Given the description of an element on the screen output the (x, y) to click on. 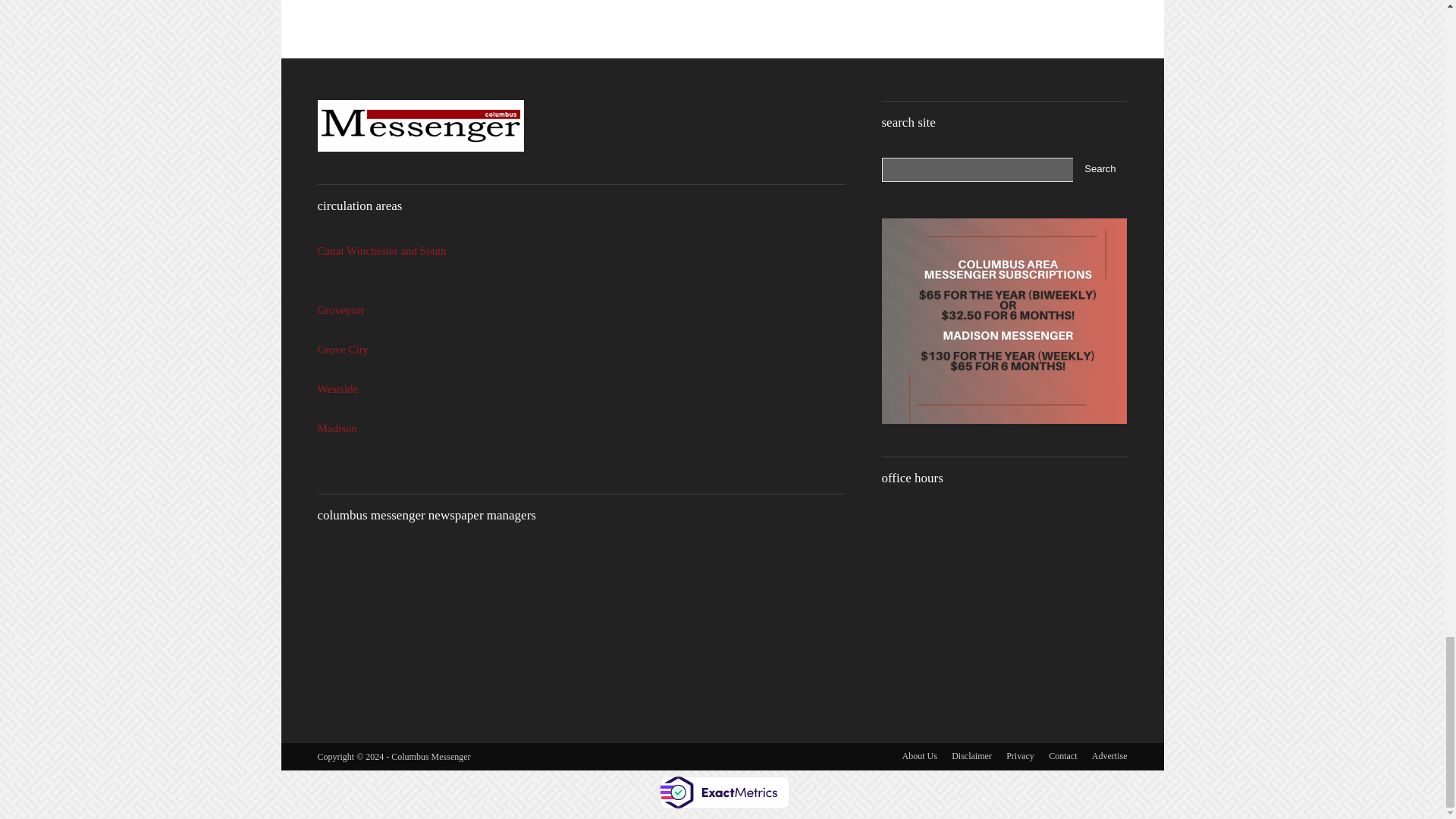
Search (1099, 169)
